Given the description of an element on the screen output the (x, y) to click on. 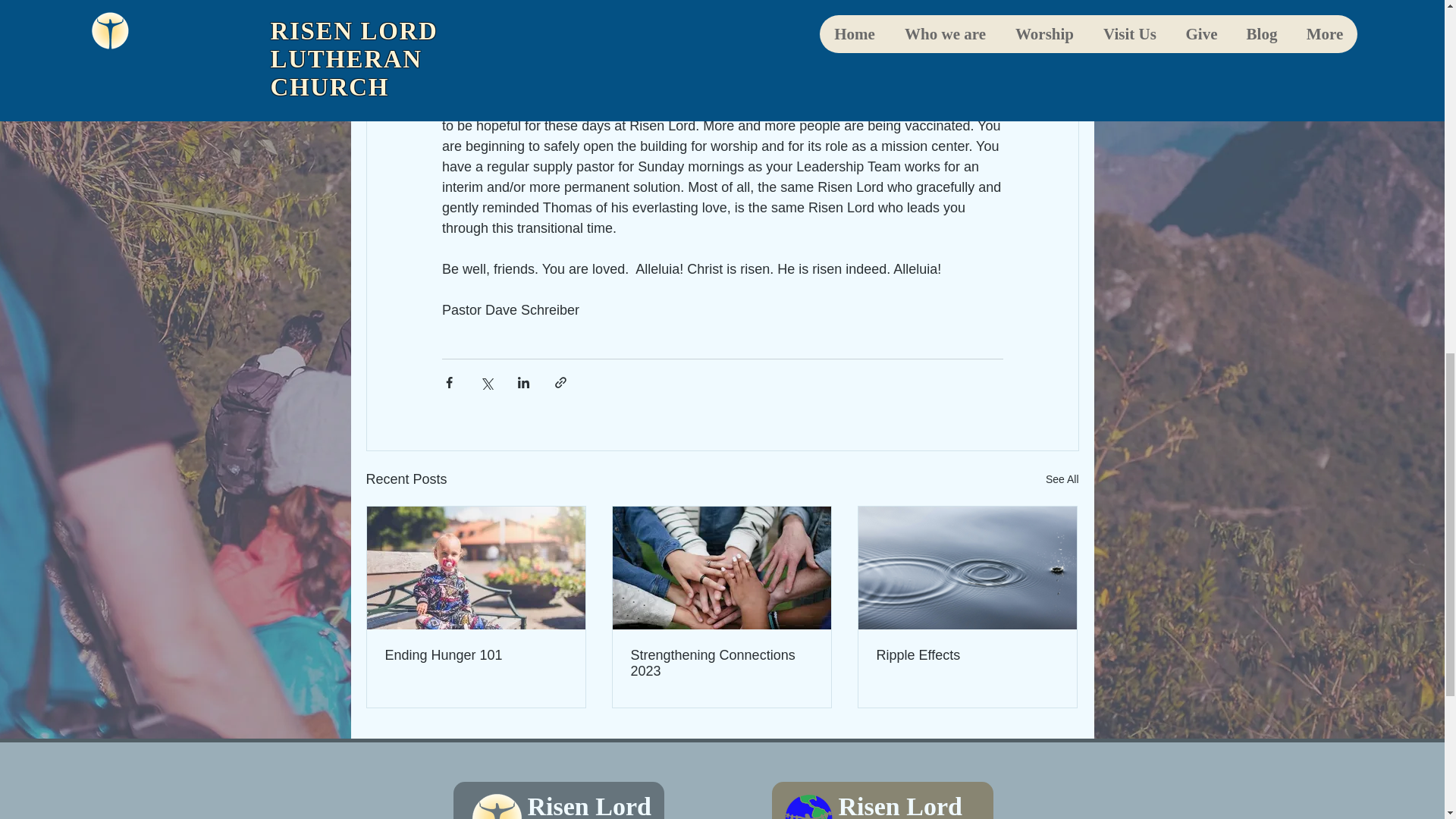
Strengthening Connections 2023 (721, 663)
Ripple Effects (967, 655)
Ending Hunger 101 (476, 655)
See All (1061, 479)
